Given the description of an element on the screen output the (x, y) to click on. 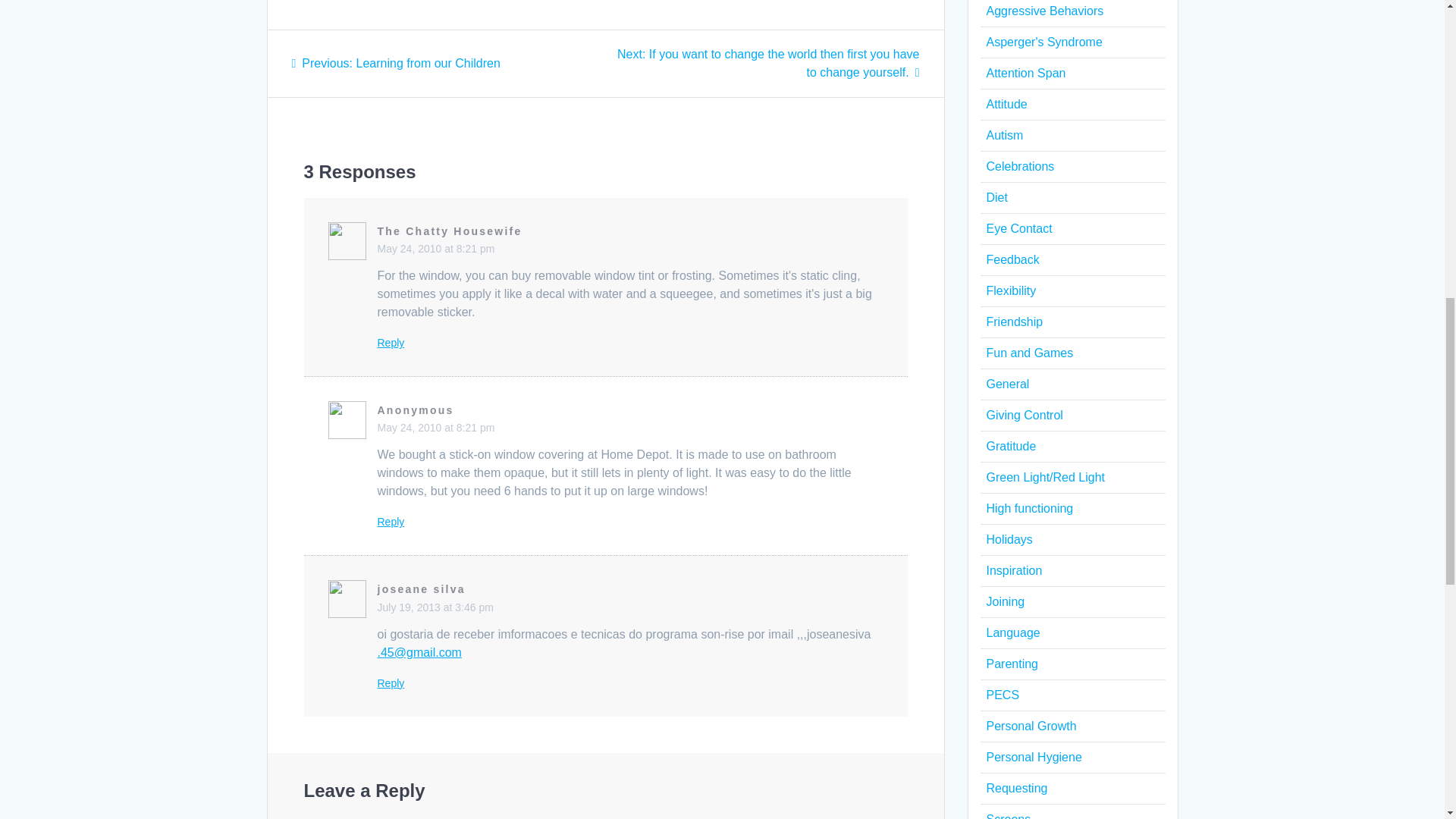
Reply (390, 683)
joseane silva (395, 62)
Reply (421, 589)
May 24, 2010 at 8:21 pm (390, 342)
May 24, 2010 at 8:21 pm (436, 248)
Reply (436, 427)
The Chatty Housewife (390, 521)
July 19, 2013 at 3:46 pm (449, 231)
